Given the description of an element on the screen output the (x, y) to click on. 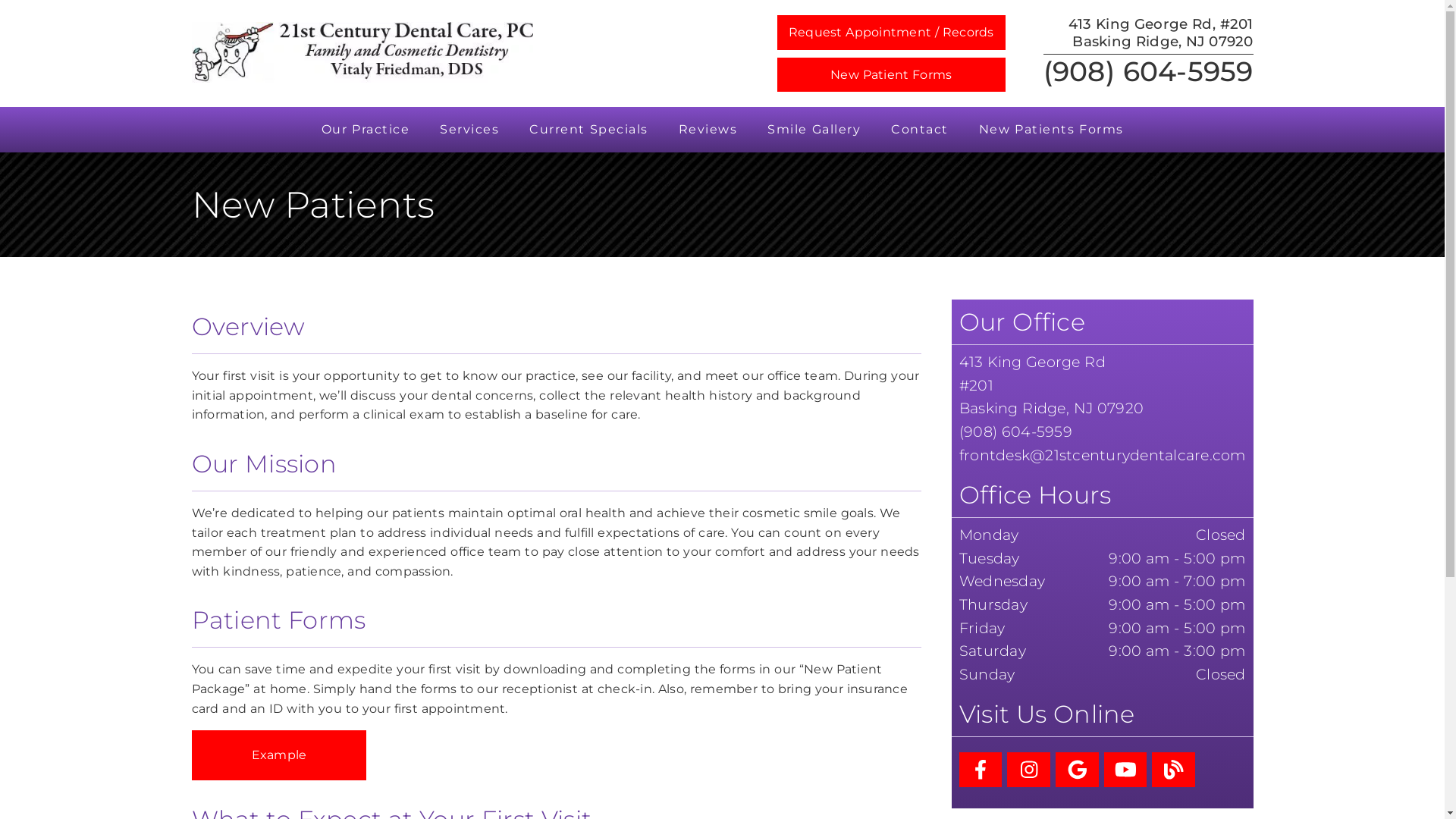
Smile Gallery Element type: text (813, 129)
frontdesk@21stcenturydentalcare.com Element type: text (1102, 454)
(908) 604-5959 Element type: text (1148, 70)
Request Appointment / Records Element type: text (891, 32)
(908) 604-5959 Element type: text (1015, 431)
Our Practice Element type: text (365, 129)
413 King George Rd, #201
Basking Ridge, NJ 07920 Element type: text (1159, 32)
Current Specials Element type: text (588, 129)
Contact Element type: text (919, 129)
Reviews Element type: text (707, 129)
New Patients Forms Element type: text (1050, 129)
New Patient Forms Element type: text (891, 74)
Services Element type: text (468, 129)
Example Element type: text (278, 755)
